Given the description of an element on the screen output the (x, y) to click on. 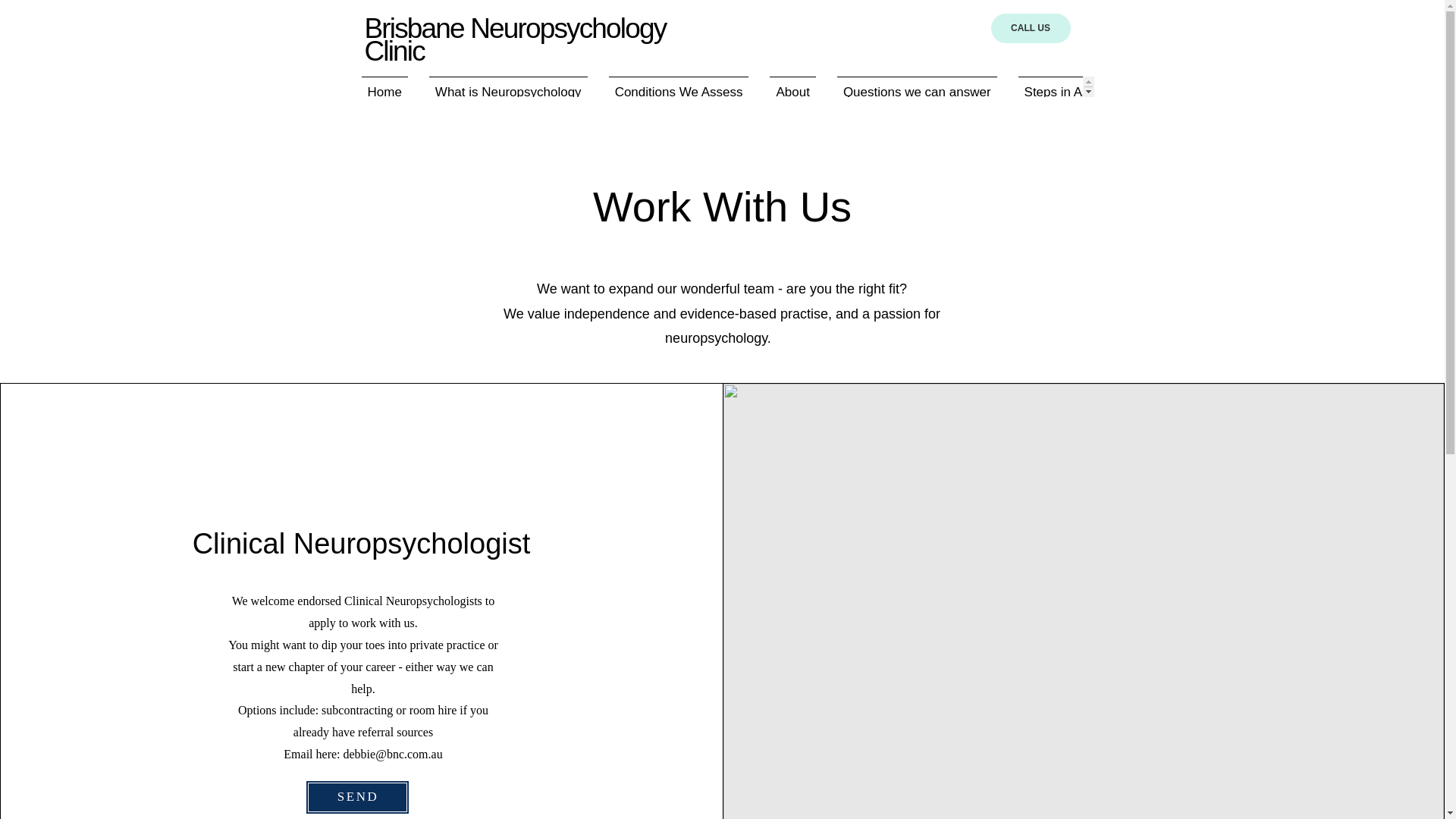
CALL US (1030, 28)
SEND (357, 797)
What is Neuropsychology (508, 86)
About (791, 86)
Steps in Assessment (1083, 86)
Brisbane Neuropsychology Clinic (514, 39)
Questions we can answer (917, 86)
Conditions We Assess (679, 86)
Home (383, 86)
